Given the description of an element on the screen output the (x, y) to click on. 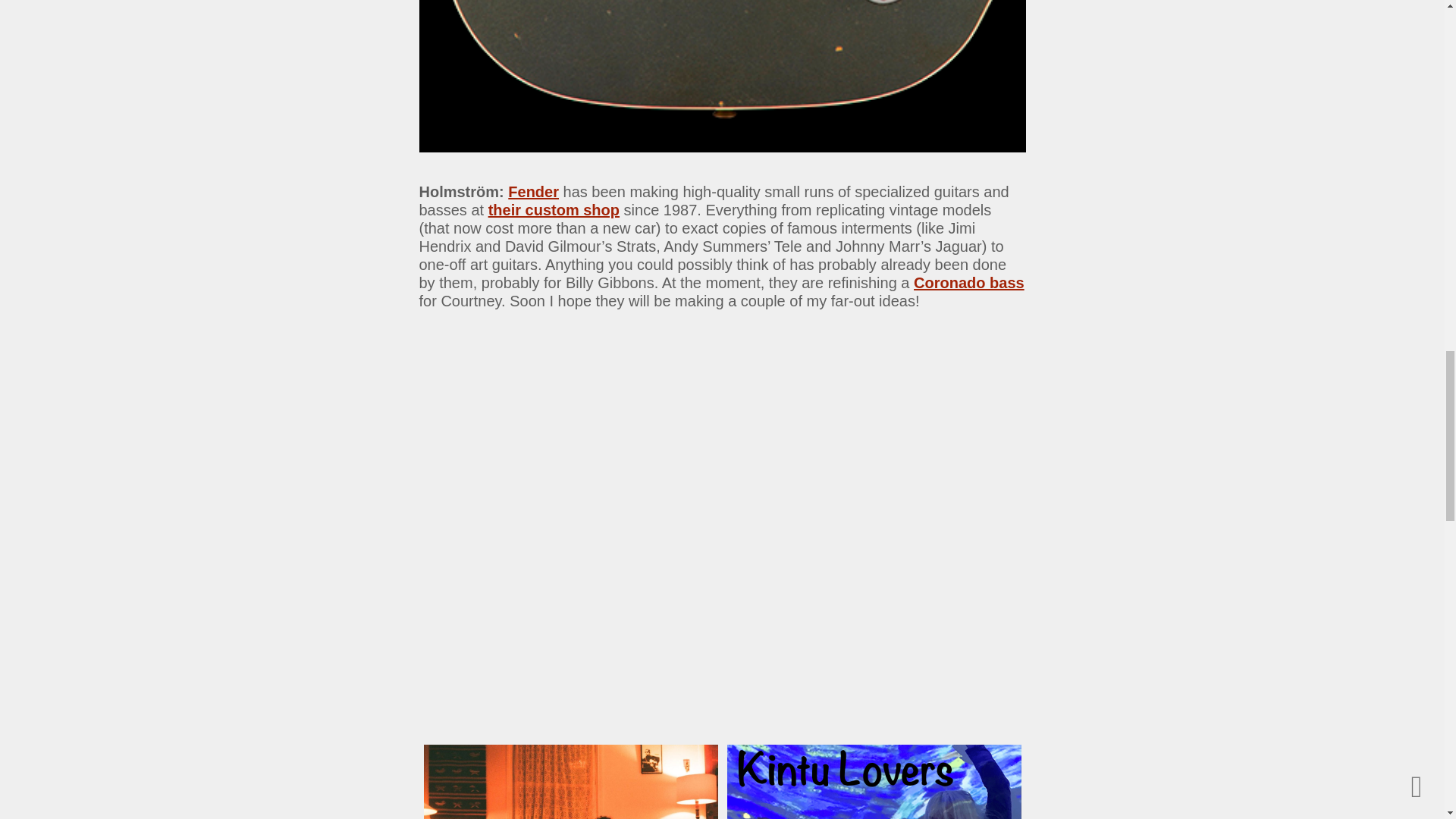
their custom shop (553, 209)
Coronado bass (969, 282)
DWFenderCustomShop (722, 76)
Fender (533, 191)
